Given the description of an element on the screen output the (x, y) to click on. 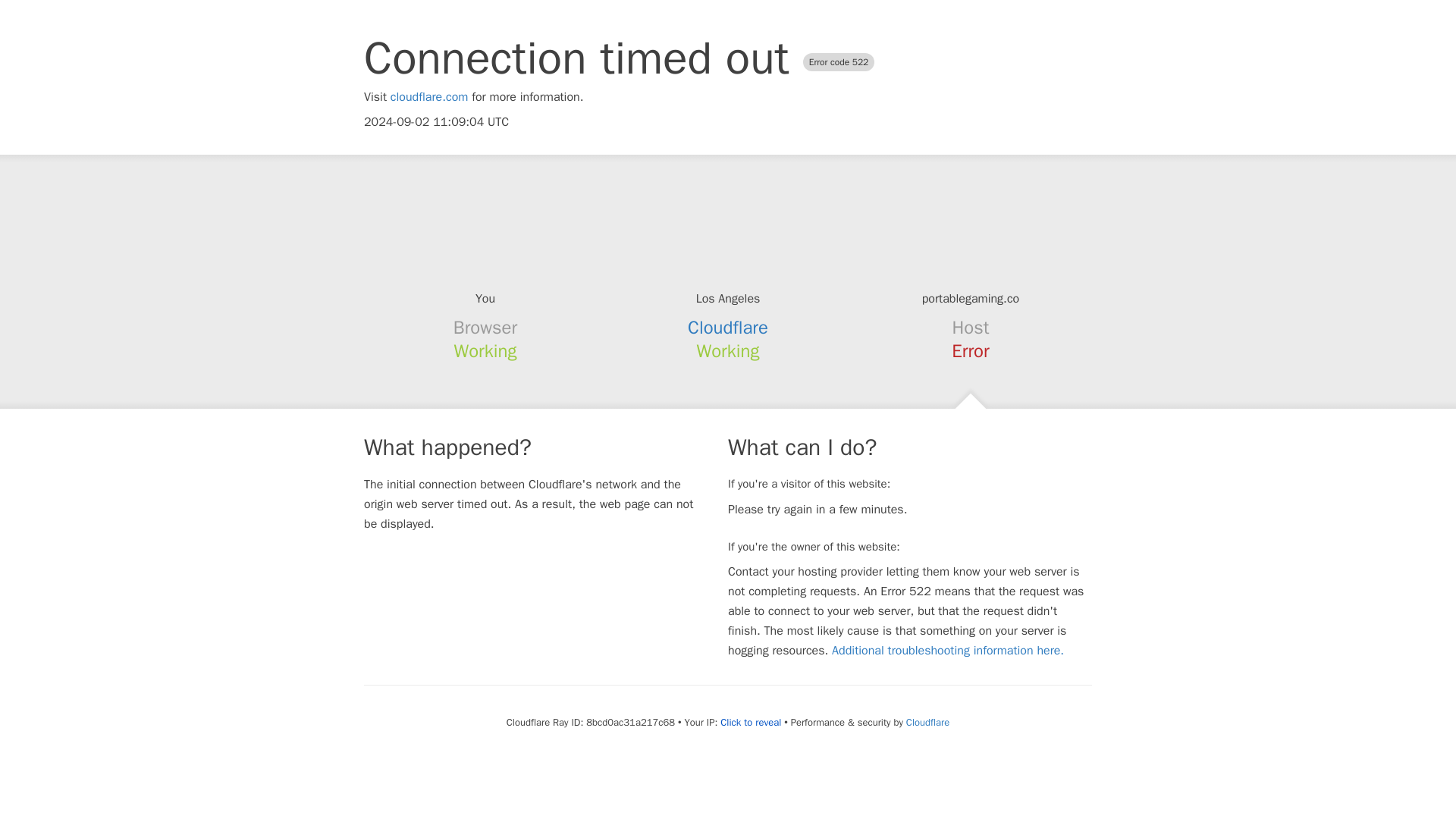
Cloudflare (727, 327)
cloudflare.com (429, 96)
Cloudflare (927, 721)
Additional troubleshooting information here. (947, 650)
Click to reveal (750, 722)
